Given the description of an element on the screen output the (x, y) to click on. 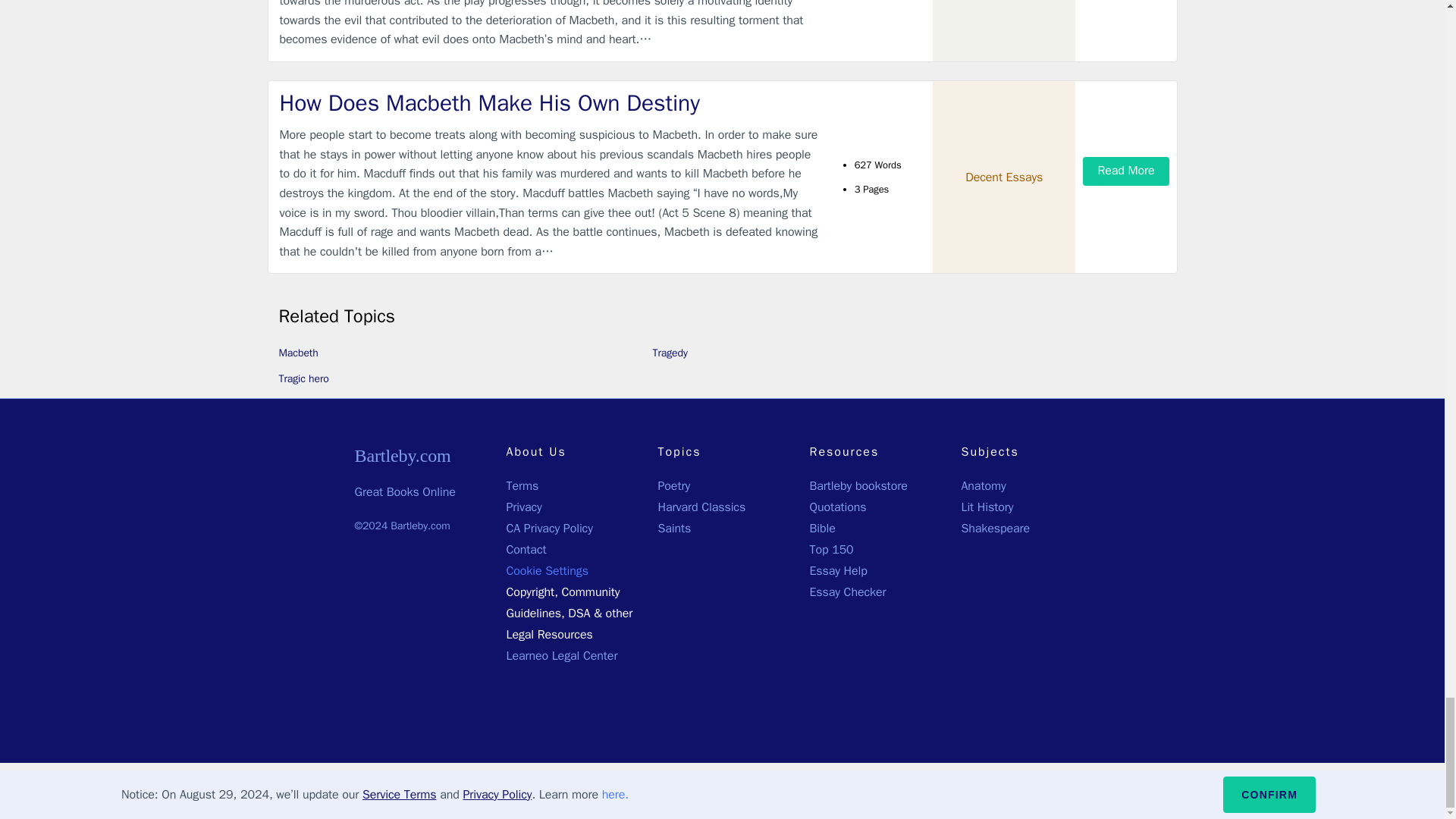
Tragedy (669, 352)
Macbeth (298, 352)
Tragic hero (304, 378)
